Given the description of an element on the screen output the (x, y) to click on. 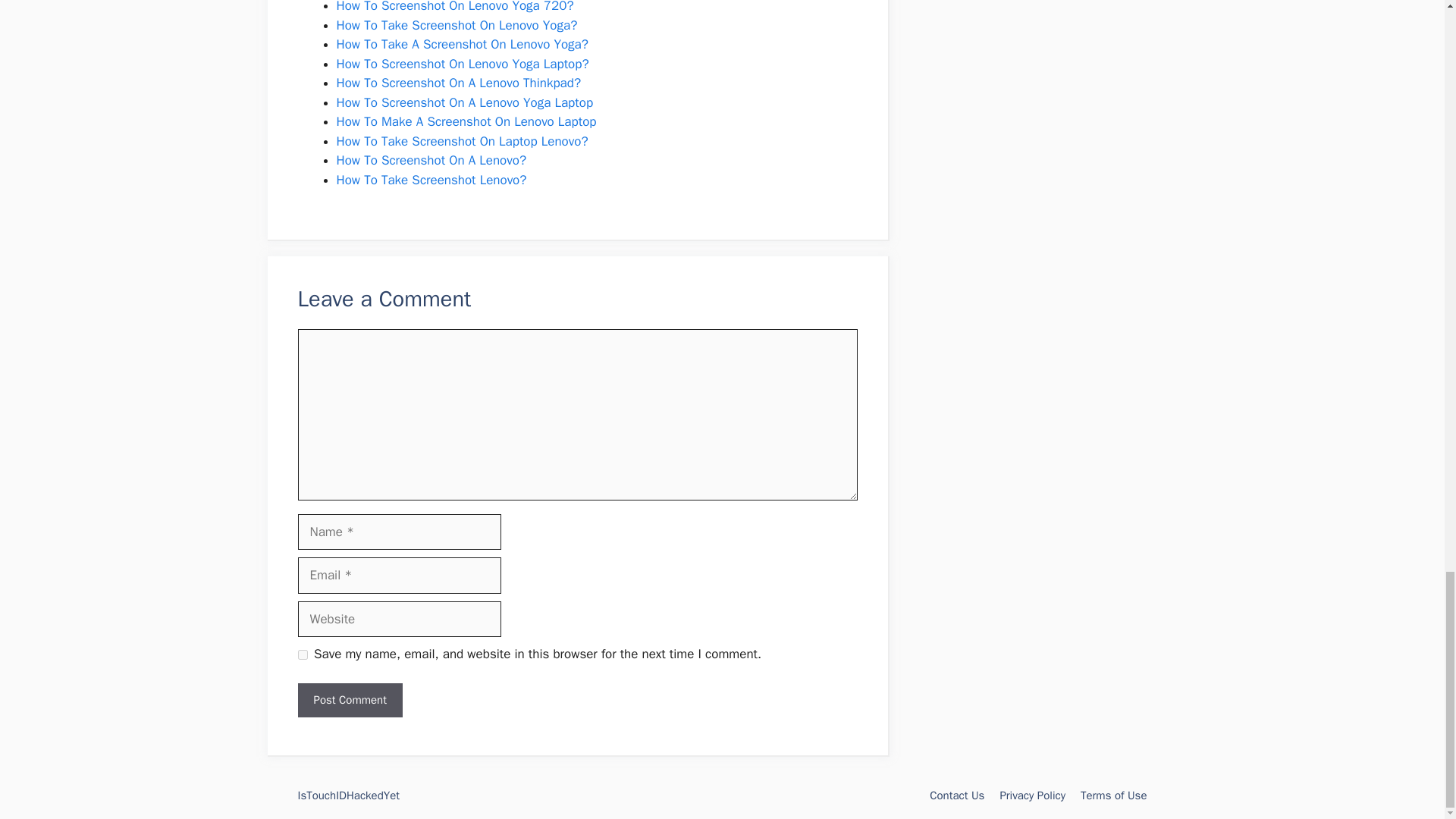
Post Comment (349, 700)
How To Make A Screenshot On Lenovo Laptop (466, 121)
How To Take A Screenshot On Lenovo Yoga? (462, 44)
How To Take Screenshot On Lenovo Yoga? (457, 25)
How To Screenshot On Lenovo Yoga Laptop? (462, 64)
How To Screenshot On A Lenovo? (431, 160)
How To Take Screenshot On Lenovo Yoga? (457, 25)
How To Take Screenshot Lenovo? (431, 179)
How To Screenshot On A Lenovo Thinkpad? (458, 82)
How To Screenshot On A Lenovo Thinkpad? (458, 82)
How To Take Screenshot On Laptop Lenovo? (462, 141)
How To Take A Screenshot On Lenovo Yoga? (462, 44)
How To Screenshot On Lenovo Yoga 720? (454, 6)
How To Screenshot On Lenovo Yoga Laptop? (462, 64)
How To Take Screenshot Lenovo? (431, 179)
